Given the description of an element on the screen output the (x, y) to click on. 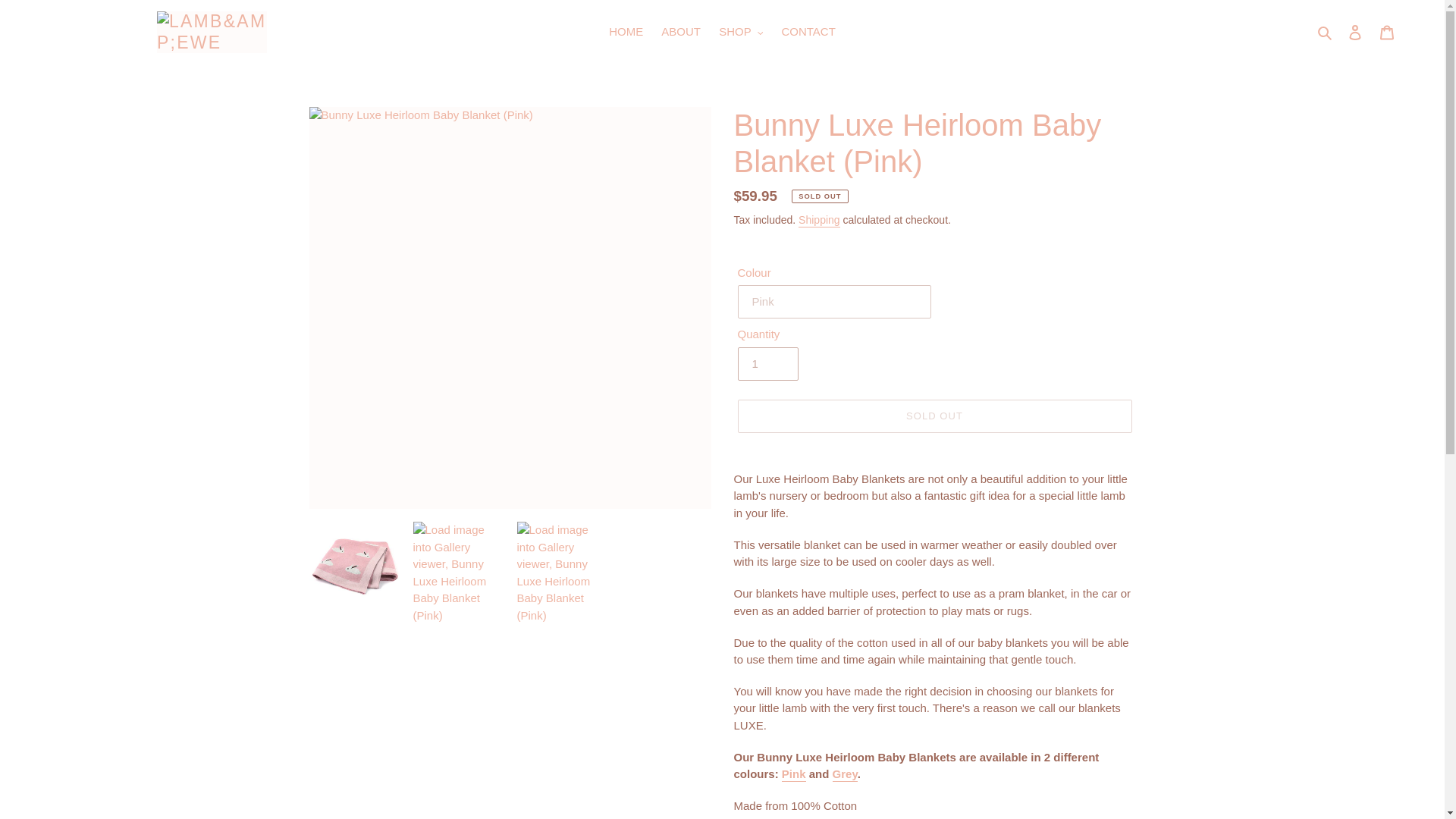
1 (766, 363)
Log in (1355, 31)
ABOUT (680, 32)
Cart (1387, 31)
SHOP (740, 32)
Search (1326, 31)
CONTACT (808, 32)
HOME (625, 32)
